Given the description of an element on the screen output the (x, y) to click on. 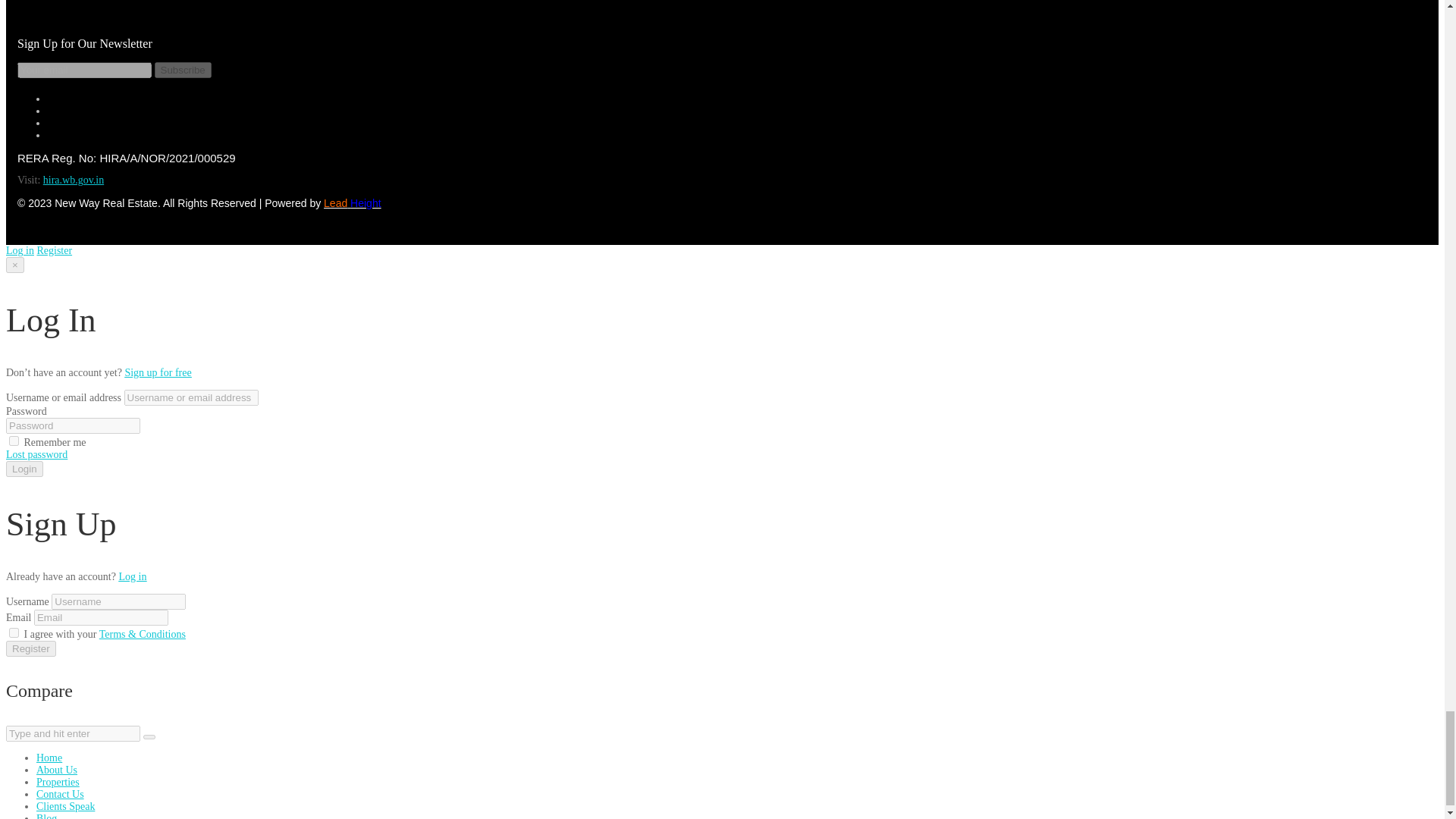
Lost password (35, 454)
Log in (132, 576)
Login (24, 468)
hira.wb.gov.in (73, 179)
Subscribe (182, 69)
Sign up for free (156, 372)
Register (53, 250)
